Given the description of an element on the screen output the (x, y) to click on. 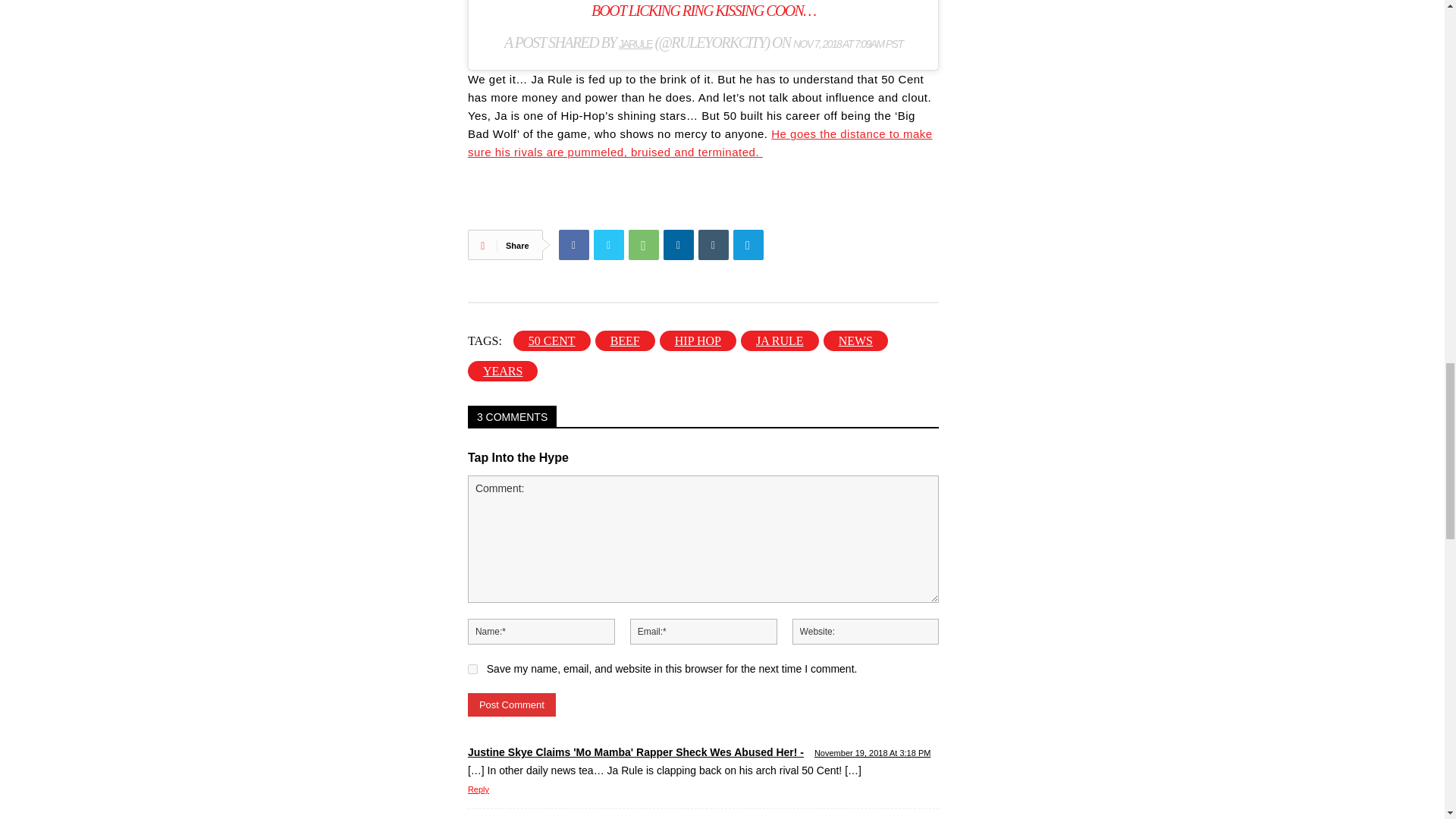
yes (472, 669)
Post Comment (511, 704)
